Given the description of an element on the screen output the (x, y) to click on. 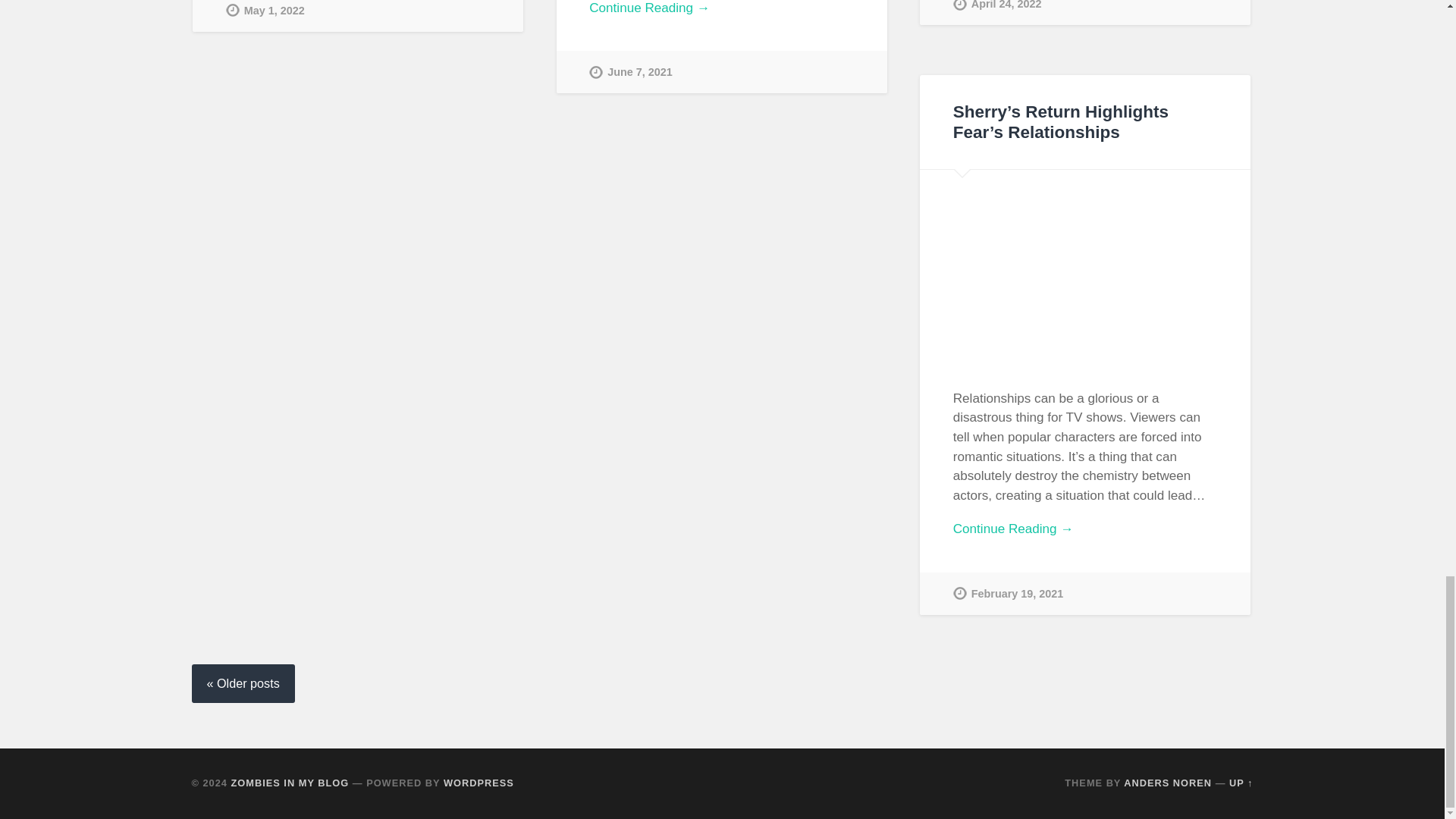
May 1, 2022 (264, 15)
April 24, 2022 (997, 12)
June 7, 2021 (630, 71)
